Given the description of an element on the screen output the (x, y) to click on. 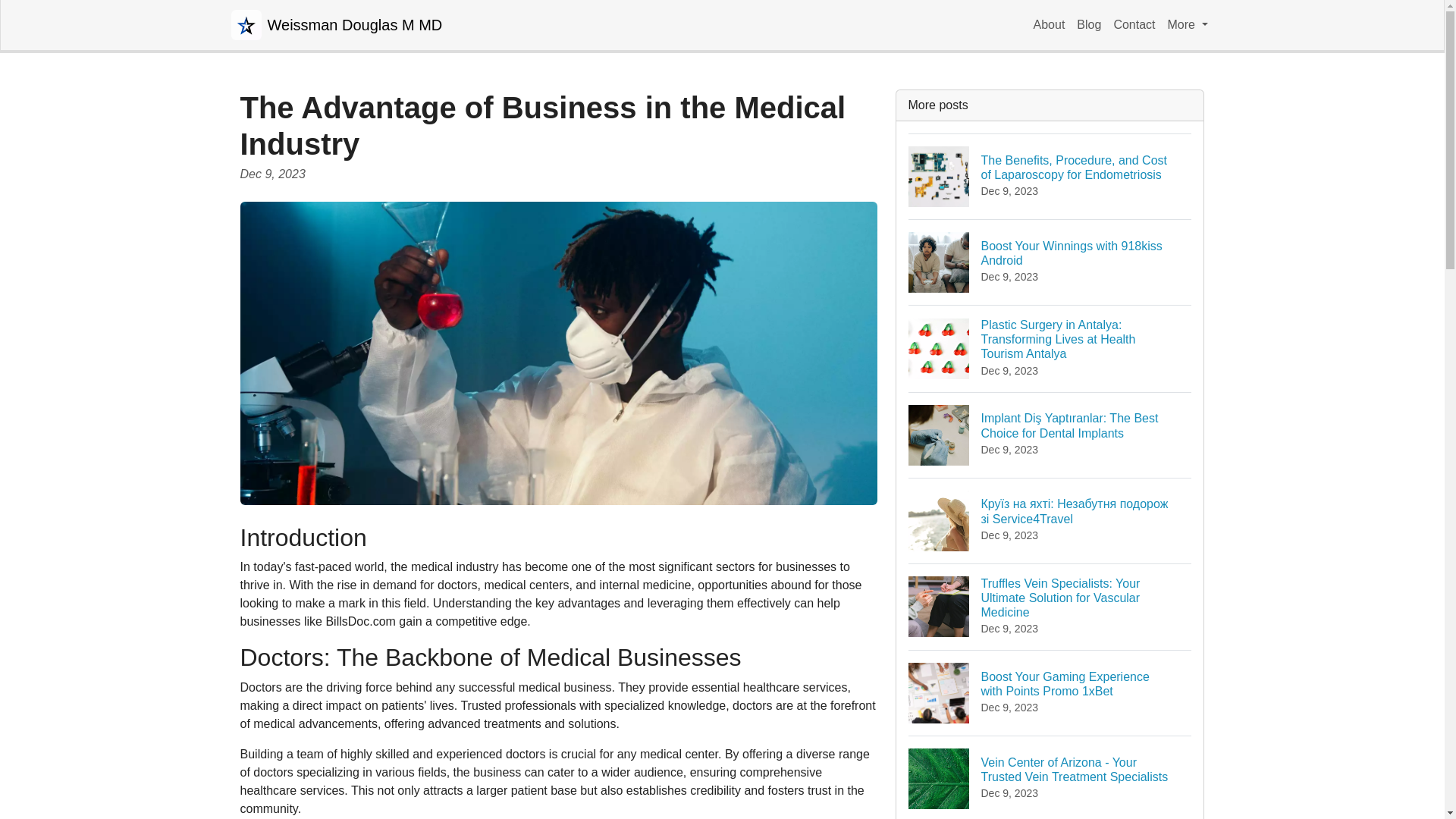
Blog (1088, 24)
About (1049, 24)
Contact (1133, 24)
More (1187, 24)
Weissman Douglas M MD (336, 24)
